Given the description of an element on the screen output the (x, y) to click on. 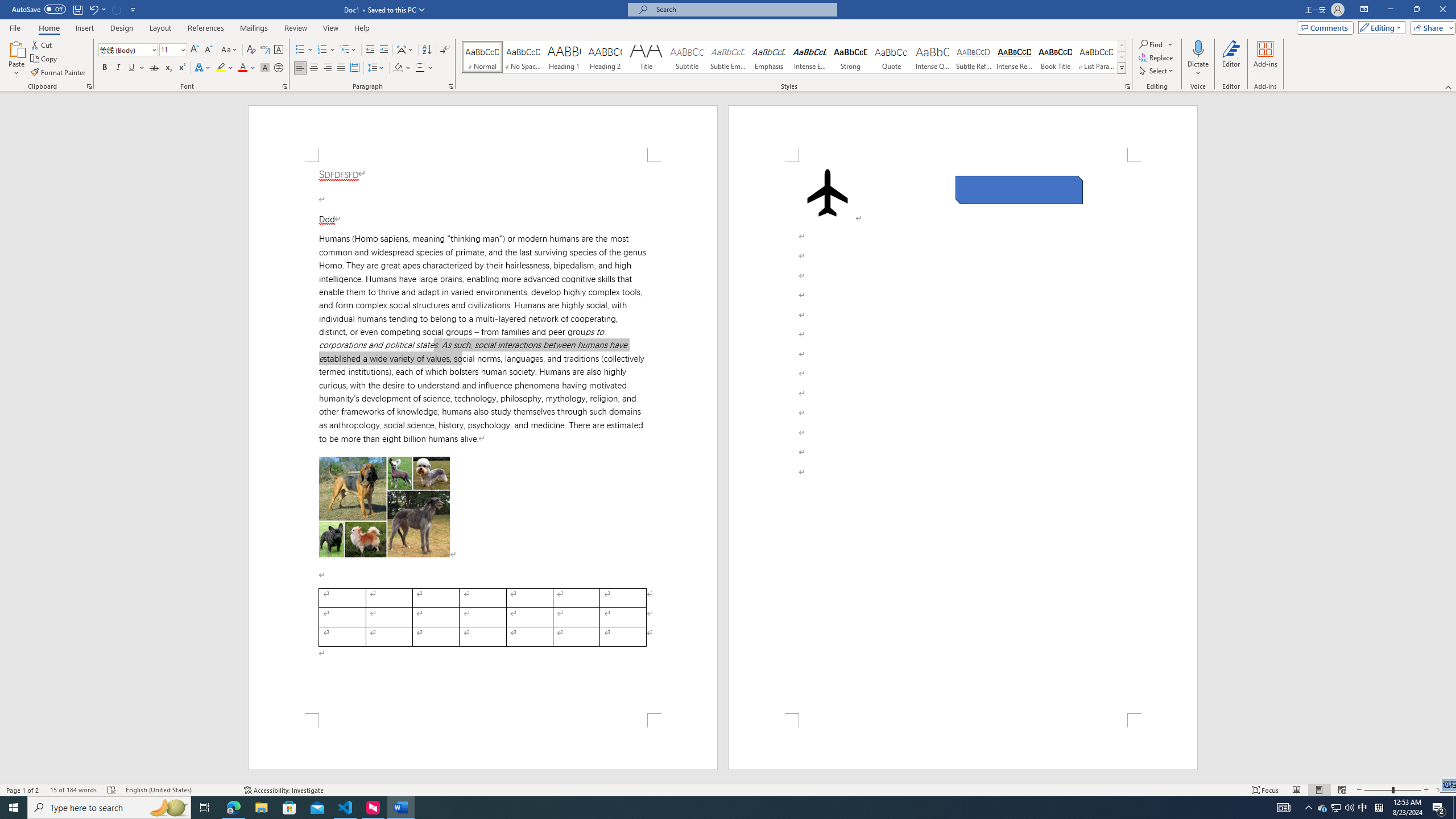
Home (48, 28)
Help (361, 28)
Font (128, 49)
Language English (United States) (178, 790)
Text Effects and Typography (202, 67)
Layout (160, 28)
Underline (136, 67)
Shrink Font (208, 49)
Restore Down (1416, 9)
Paste (16, 48)
Heading 1 (564, 56)
Microsoft search (742, 9)
Minimize (1390, 9)
Find (1155, 44)
Text Highlight Color (224, 67)
